Given the description of an element on the screen output the (x, y) to click on. 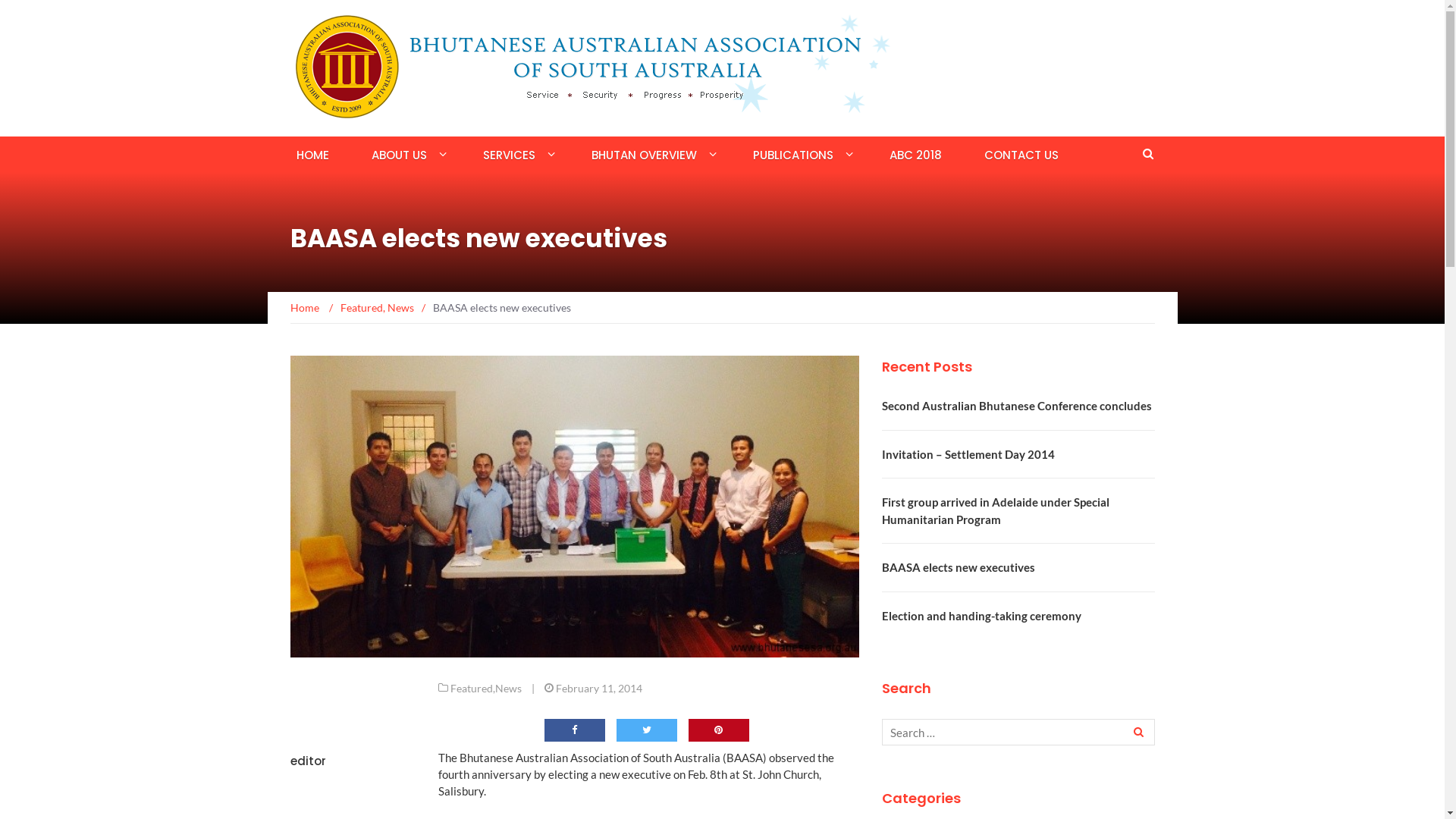
BAASA elects new executives Element type: text (957, 567)
Featured Element type: text (471, 687)
CONTACT US Element type: text (1021, 154)
Search Element type: text (1136, 731)
News Element type: text (507, 687)
Home Element type: text (304, 307)
Election and handing-taking ceremony Element type: text (980, 614)
ABOUT US Element type: text (399, 154)
HOME Element type: text (311, 154)
PUBLICATIONS Element type: text (792, 154)
News Element type: text (399, 307)
editor Element type: text (307, 760)
BHUTAN OVERVIEW Element type: text (643, 154)
Featured Element type: text (360, 307)
Second Australian Bhutanese Conference concludes Element type: text (1016, 405)
SERVICES Element type: text (508, 154)
ABC 2018 Element type: text (914, 154)
